Given the description of an element on the screen output the (x, y) to click on. 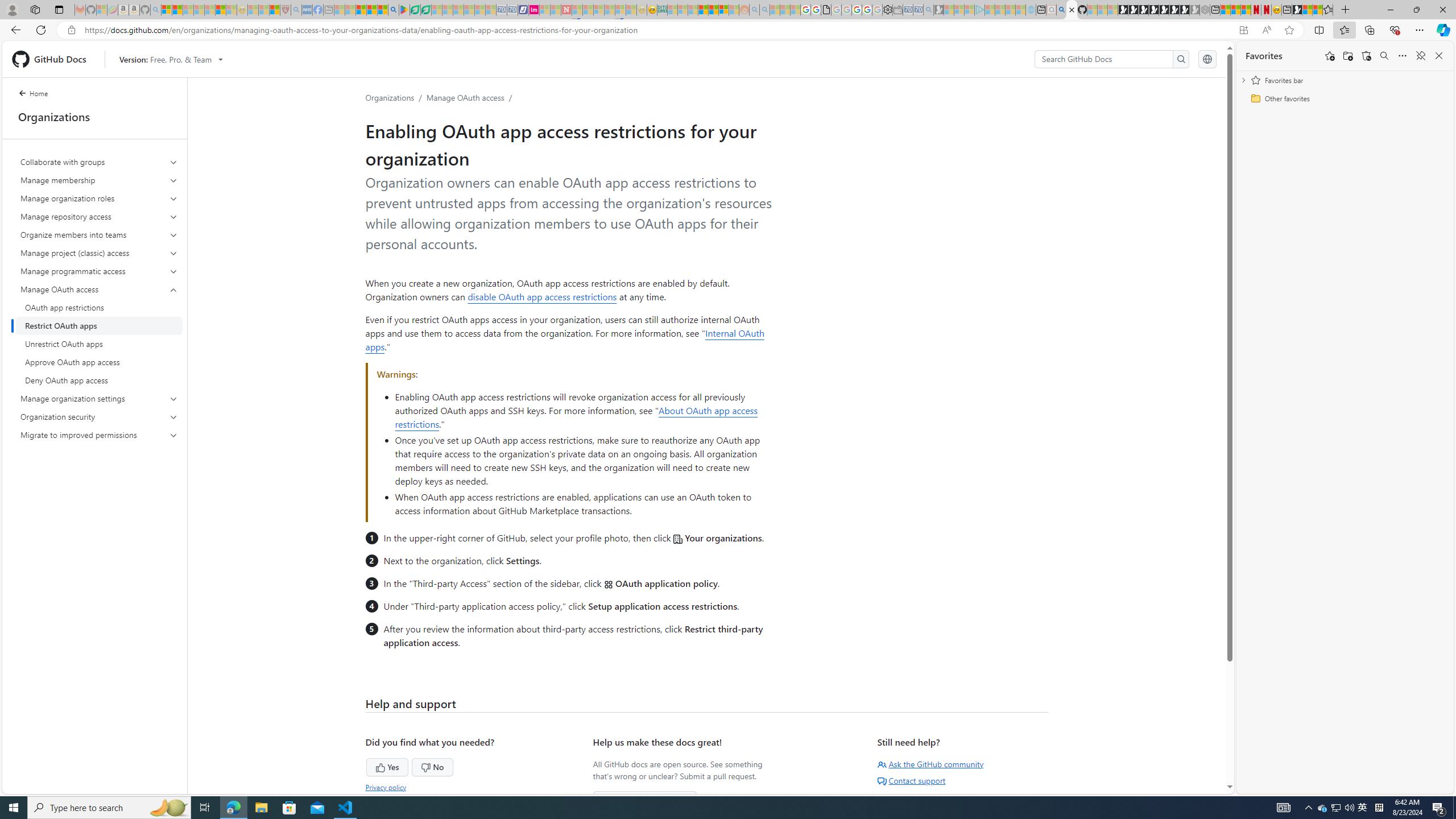
New Report Confirms 2023 Was Record Hot | Watch - Sleeping (209, 9)
Close favorites (1439, 55)
Search favorites (1383, 55)
Manage OAuth access/ (471, 97)
google - Search (392, 9)
Manage programmatic access (99, 271)
